Given the description of an element on the screen output the (x, y) to click on. 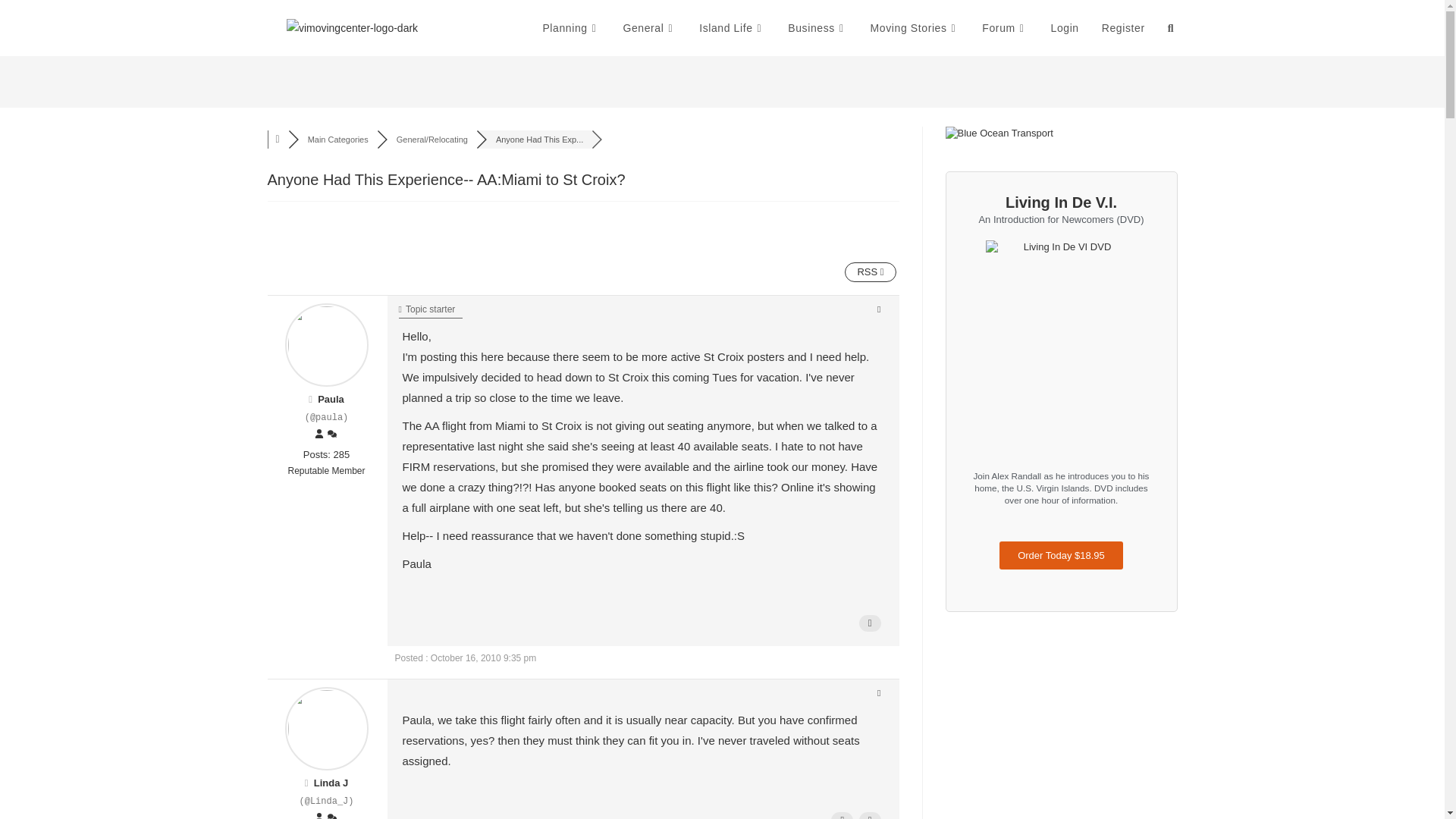
Main Categories (337, 139)
General (649, 28)
Moving Stories (915, 28)
Business (817, 28)
Profile (319, 815)
Rating Title (325, 471)
Island Life (731, 28)
Planning (571, 28)
vimovingcenter-logo-dark (351, 27)
Linda J (331, 782)
Paula (330, 398)
Forum (1005, 28)
Topic RSS Feed (869, 271)
